Given the description of an element on the screen output the (x, y) to click on. 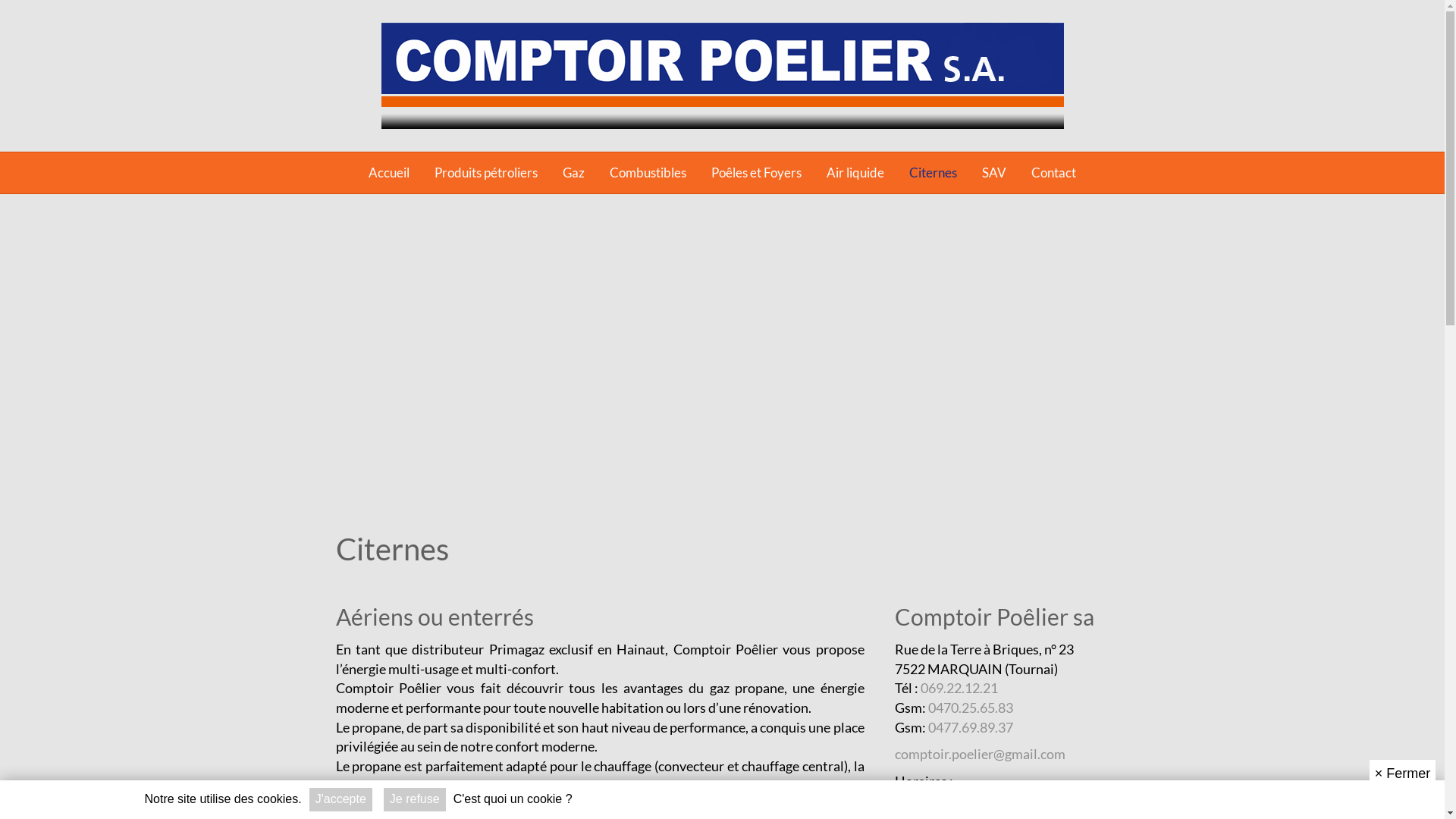
C'est quoi un cookie ? Element type: text (512, 799)
Air liquide Element type: text (855, 172)
Combustibles Element type: text (647, 172)
Contact Element type: text (1053, 172)
069.22.12.21 Element type: text (958, 687)
0477.69.89.37 Element type: text (970, 726)
Je refuse Element type: text (414, 799)
Accueil Element type: text (388, 172)
comptoir.poelier@gmail.com Element type: text (979, 753)
Citernes Element type: text (932, 172)
SAV Element type: text (993, 172)
J'accepte Element type: text (340, 799)
Gaz Element type: text (573, 172)
0470.25.65.83 Element type: text (970, 707)
